Given the description of an element on the screen output the (x, y) to click on. 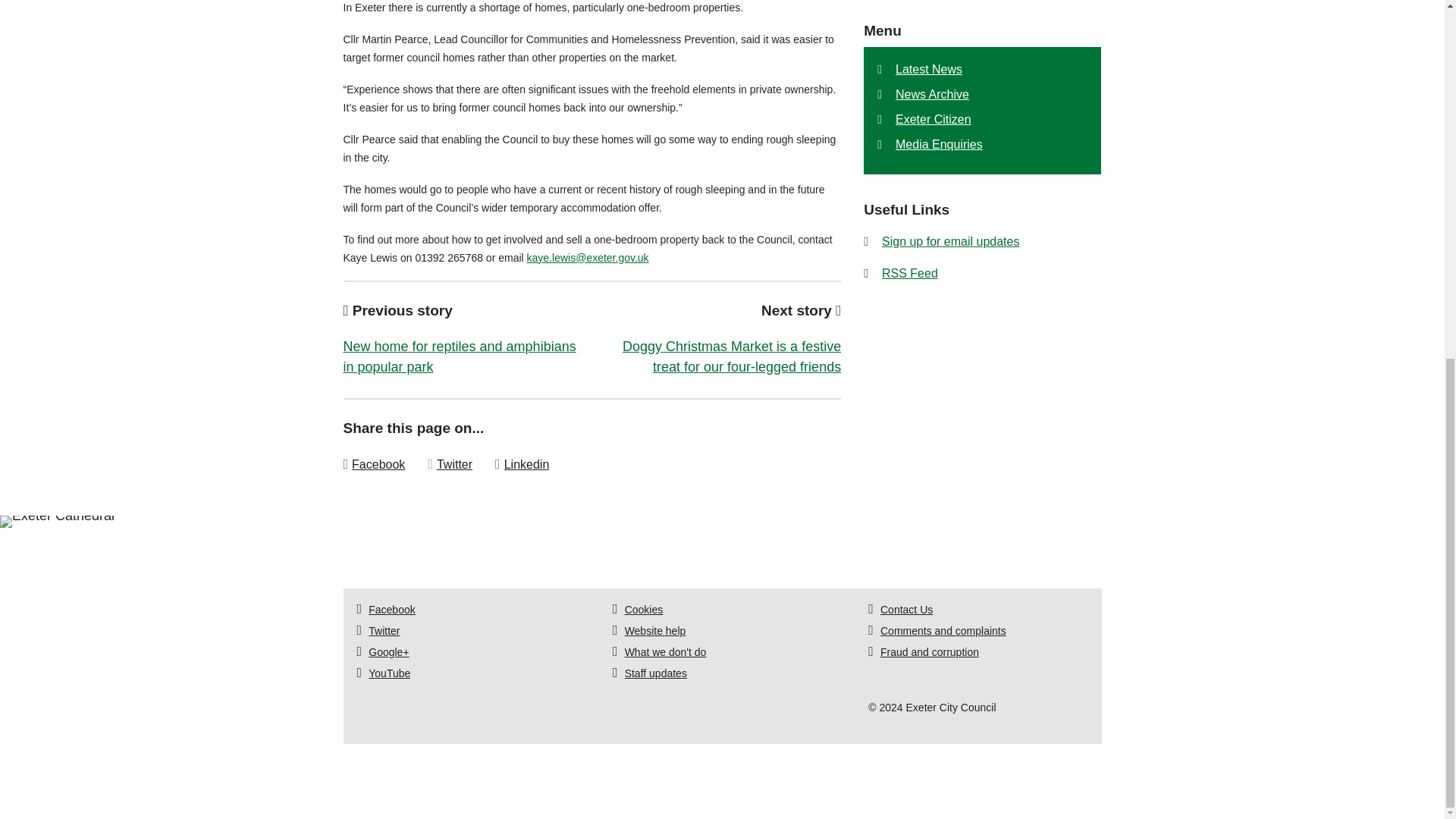
Staff updates (655, 673)
YouTube (389, 673)
Twitter (383, 630)
Fraud and corruption (929, 652)
New home for reptiles and amphibians in popular park (458, 356)
Contact Us (906, 609)
Twitter (453, 463)
Facebook (378, 463)
Website help (654, 630)
